Given the description of an element on the screen output the (x, y) to click on. 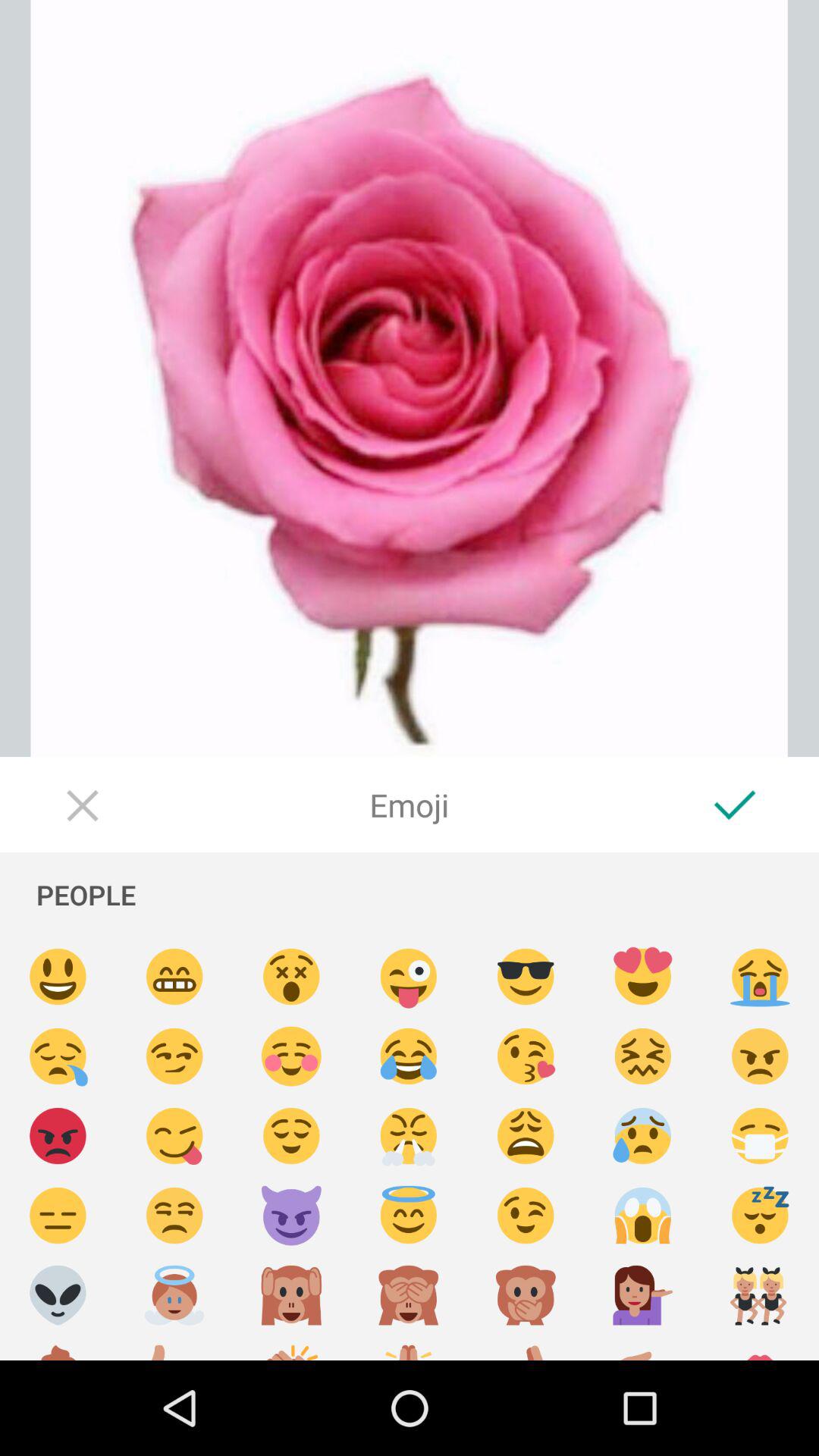
select emoji (408, 1347)
